Given the description of an element on the screen output the (x, y) to click on. 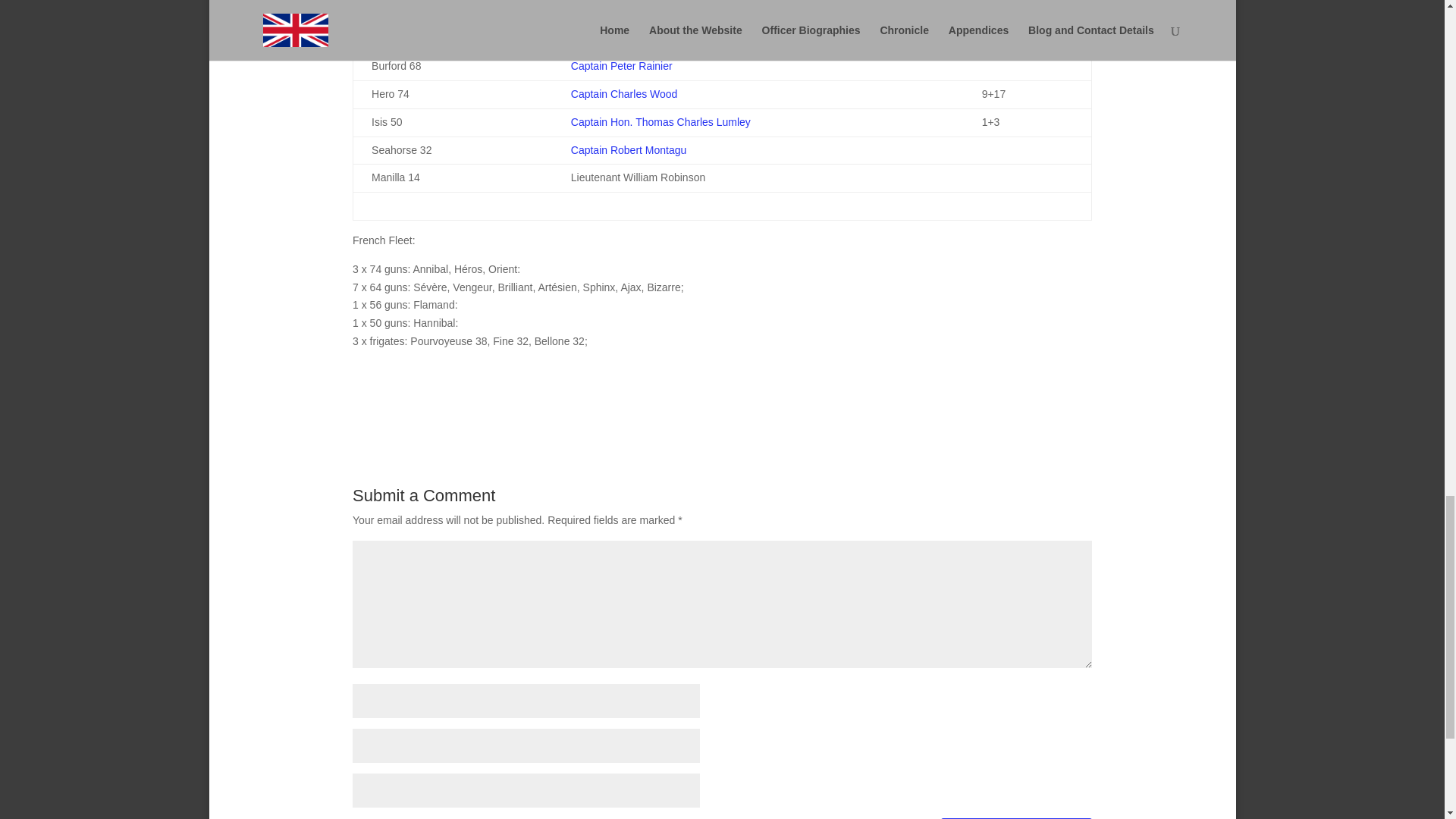
Captain Robert Montagu (628, 150)
Captain Hon. Thomas Charles Lumley (660, 121)
Captain George Talbot (623, 37)
Captain Charles Wood (624, 93)
Captain Peter Rainier (621, 65)
Captain Ambrose Reddall (630, 10)
